Given the description of an element on the screen output the (x, y) to click on. 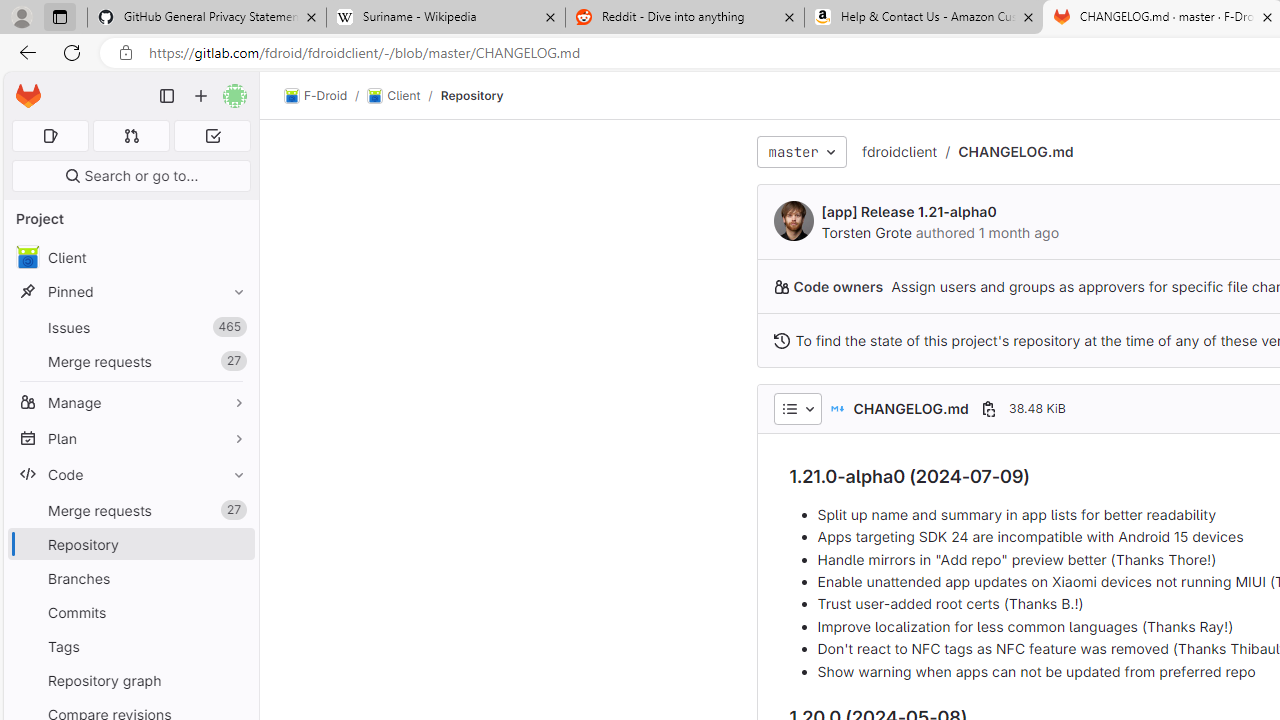
Pin Repository (234, 544)
Primary navigation sidebar (167, 96)
Help & Contact Us - Amazon Customer Service (924, 17)
Reddit - Dive into anything (684, 17)
/CHANGELOG.md (1004, 151)
Pin Tags (234, 646)
Repository graph (130, 679)
Manage (130, 402)
master (801, 151)
F-Droid/ (326, 96)
Homepage (27, 96)
Copy file path (987, 408)
Pinned (130, 291)
Pin Branches (234, 578)
Repository (472, 95)
